Given the description of an element on the screen output the (x, y) to click on. 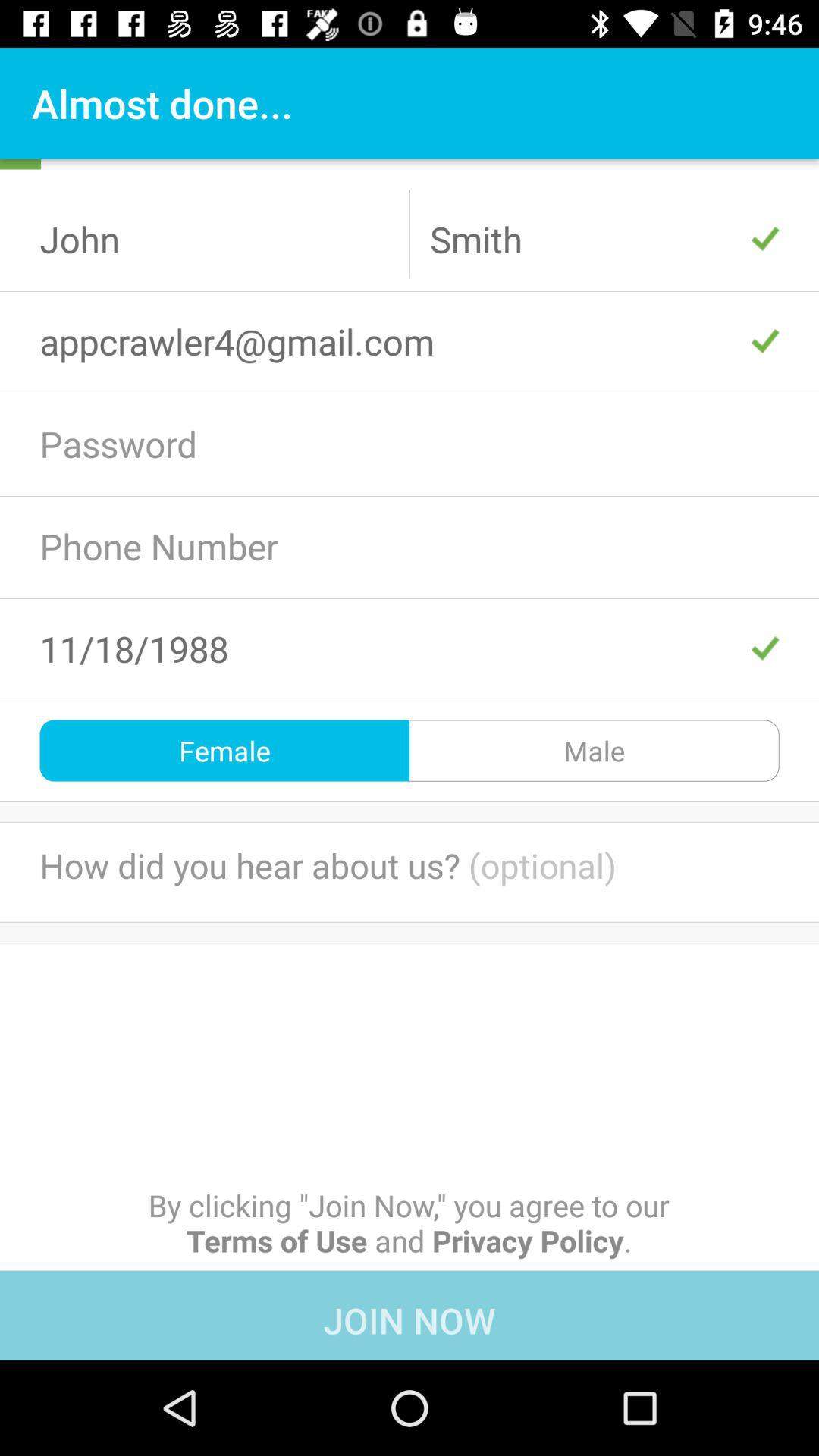
select the icon above join now (408, 1222)
